Given the description of an element on the screen output the (x, y) to click on. 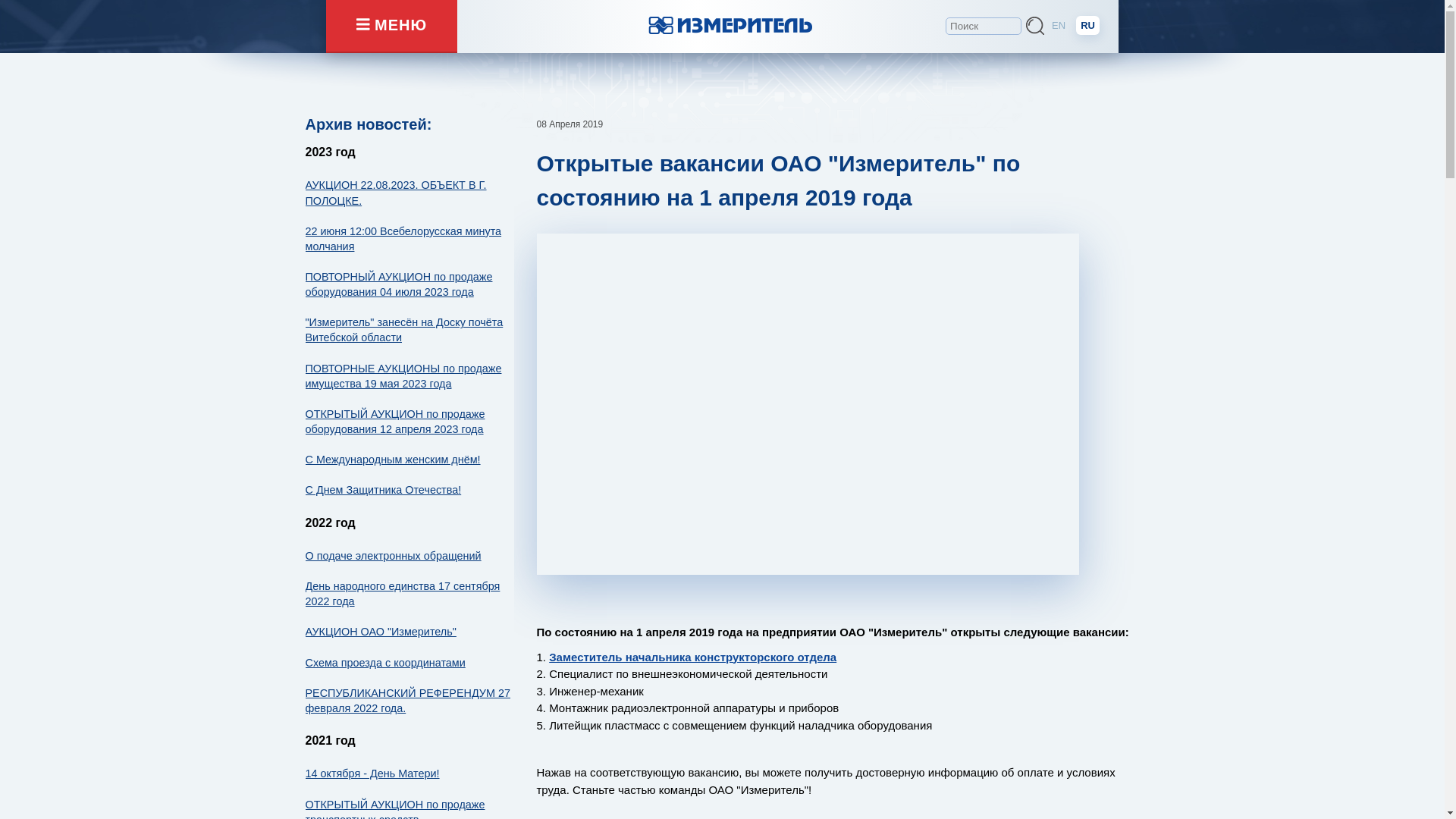
RU Element type: text (1087, 24)
EN Element type: text (1058, 24)
